Given the description of an element on the screen output the (x, y) to click on. 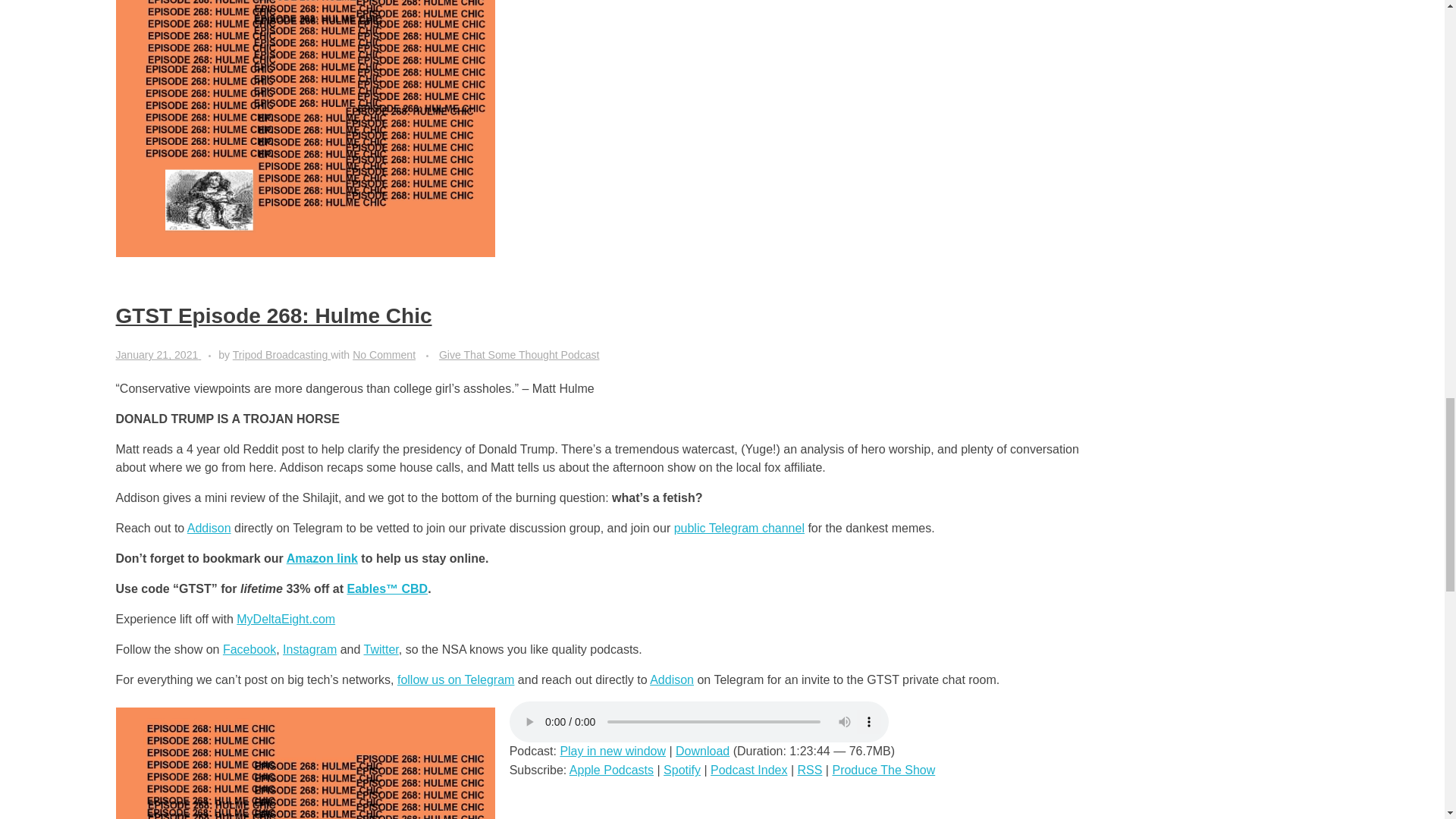
View all posts in Give That Some Thought Podcast (519, 355)
Play in new window (612, 750)
2021-01-21T18:11:42-06:00 (156, 354)
Gtst Episode 268: Hulme Chic (305, 763)
View all posts by Tripod Broadcasting (281, 354)
